Given the description of an element on the screen output the (x, y) to click on. 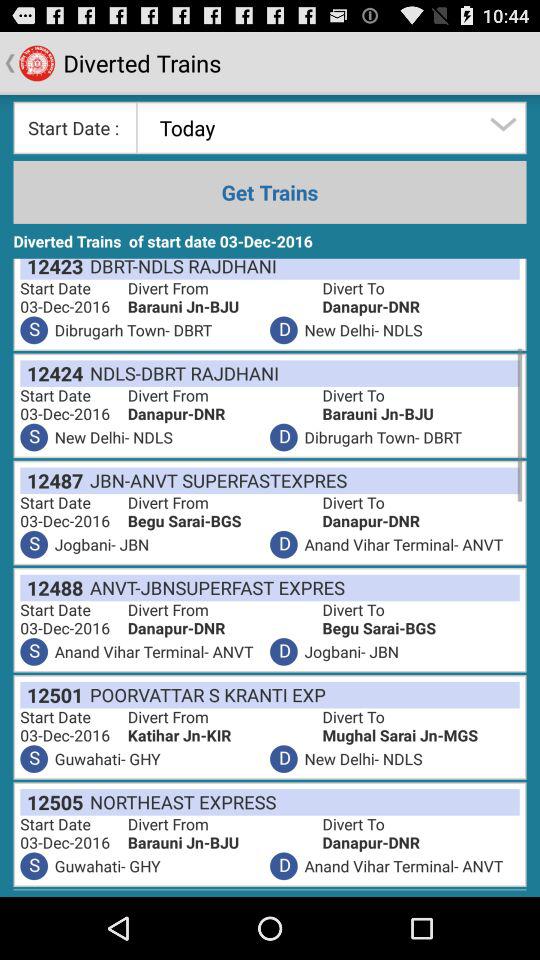
open the katihar jn-kir item (223, 735)
